Given the description of an element on the screen output the (x, y) to click on. 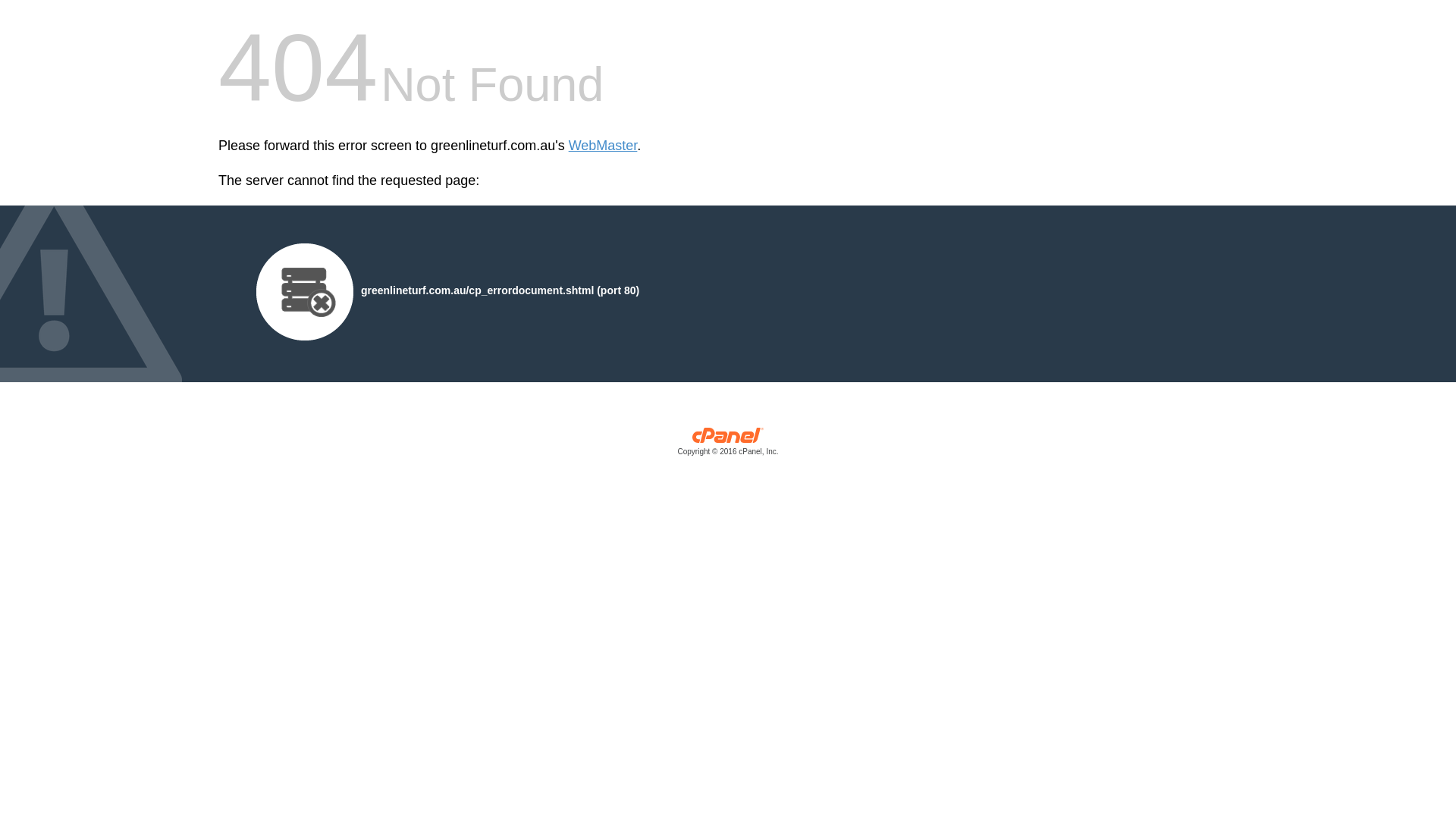
WebMaster Element type: text (602, 145)
